Given the description of an element on the screen output the (x, y) to click on. 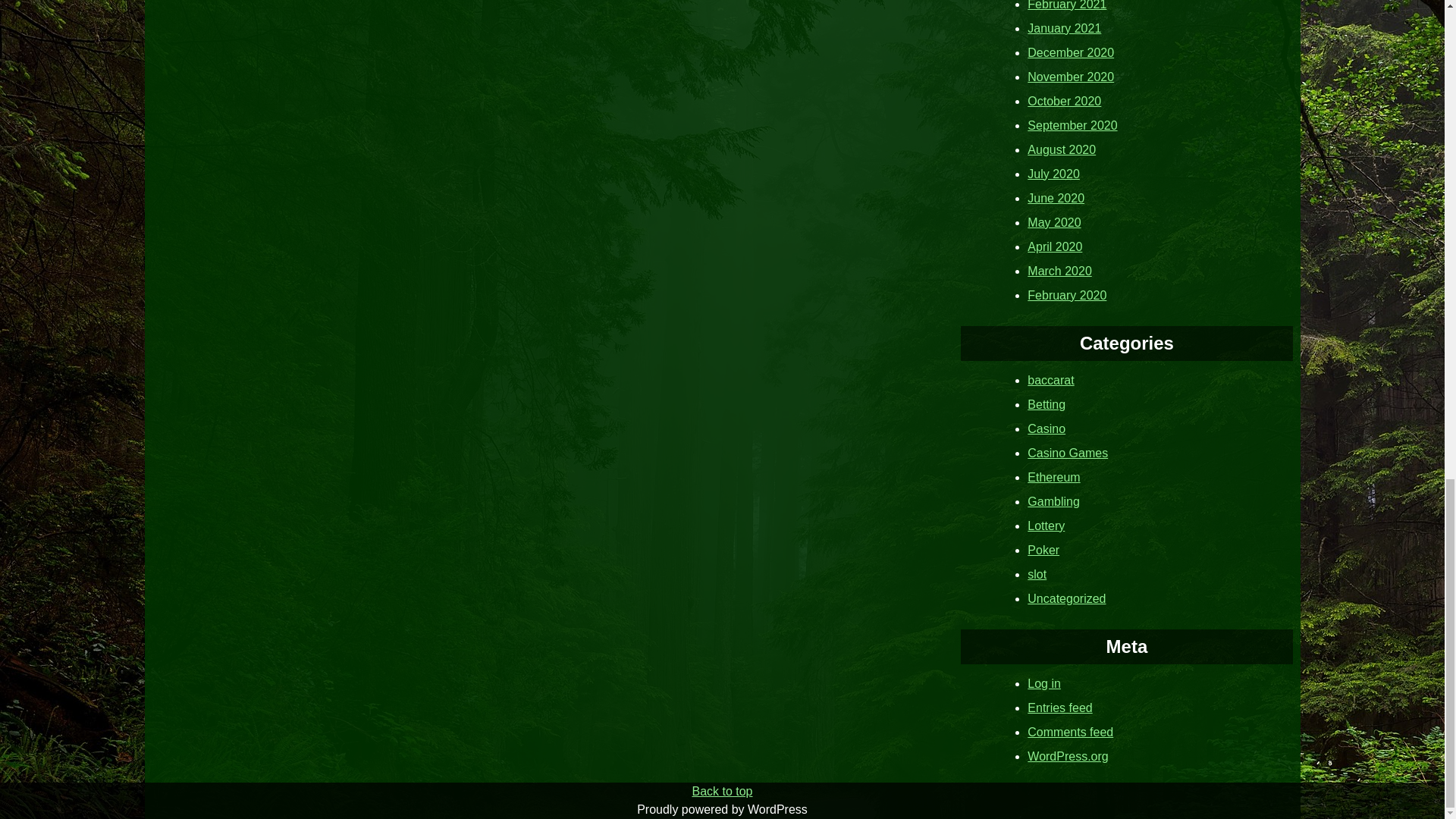
February 2021 (1066, 4)
